Given the description of an element on the screen output the (x, y) to click on. 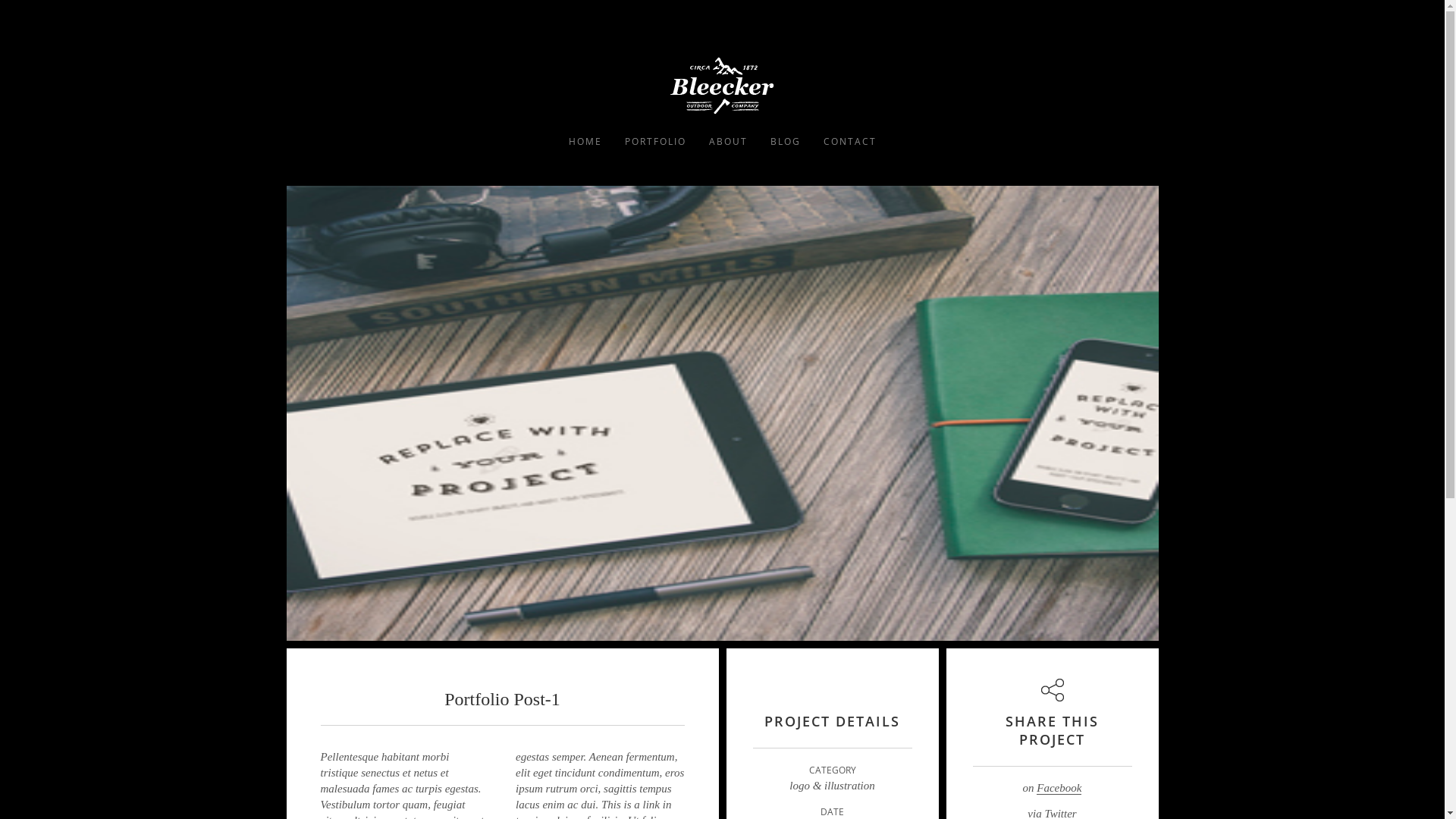
ABOUT Element type: text (728, 141)
HOME Element type: text (584, 141)
Facebook Element type: text (1058, 787)
logo & illustration Element type: text (832, 785)
PORTFOLIO Element type: text (654, 141)
CONTACT Element type: text (849, 141)
BLOG Element type: text (784, 141)
